Given the description of an element on the screen output the (x, y) to click on. 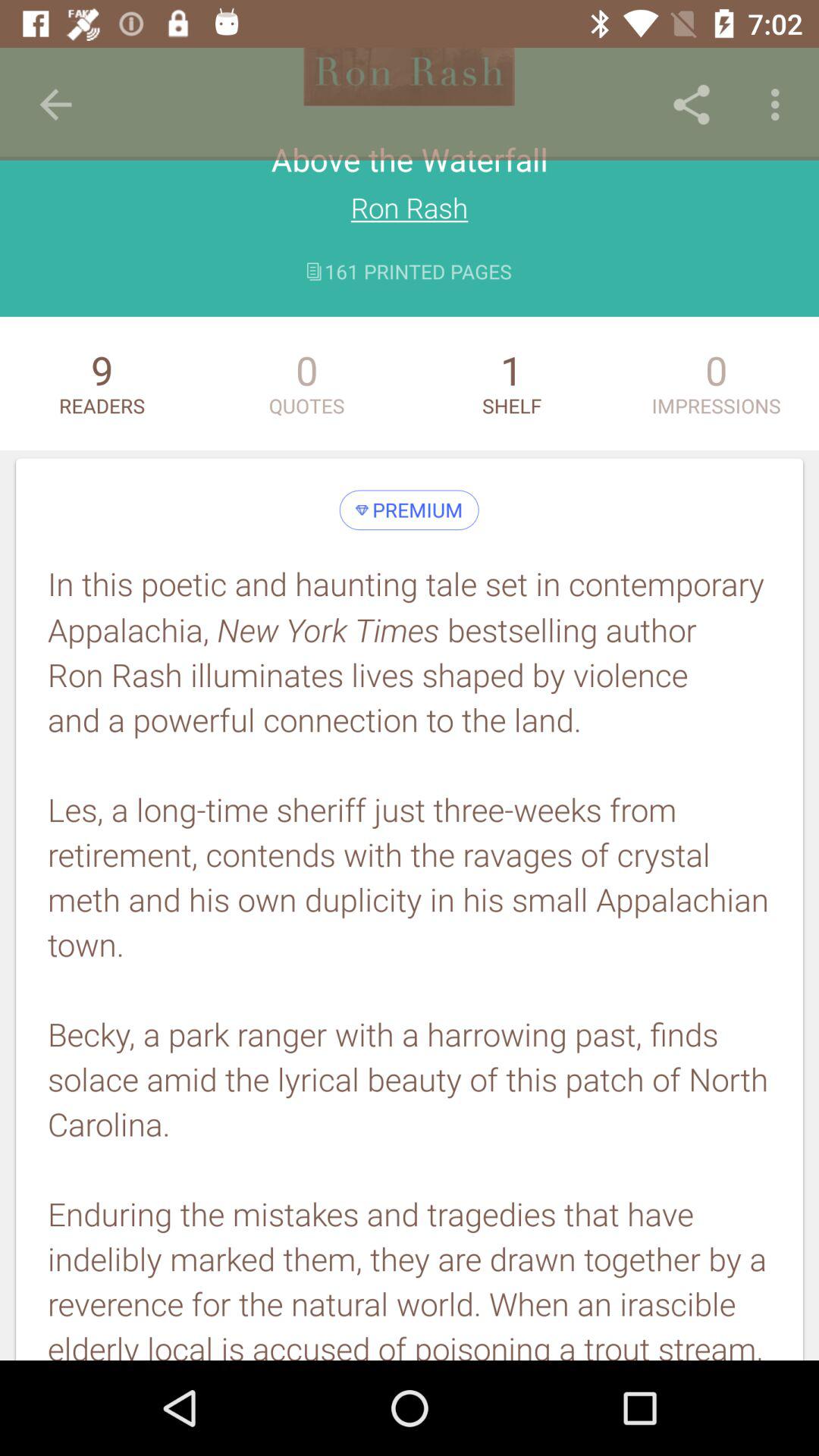
click the item above the impressions (779, 104)
